Given the description of an element on the screen output the (x, y) to click on. 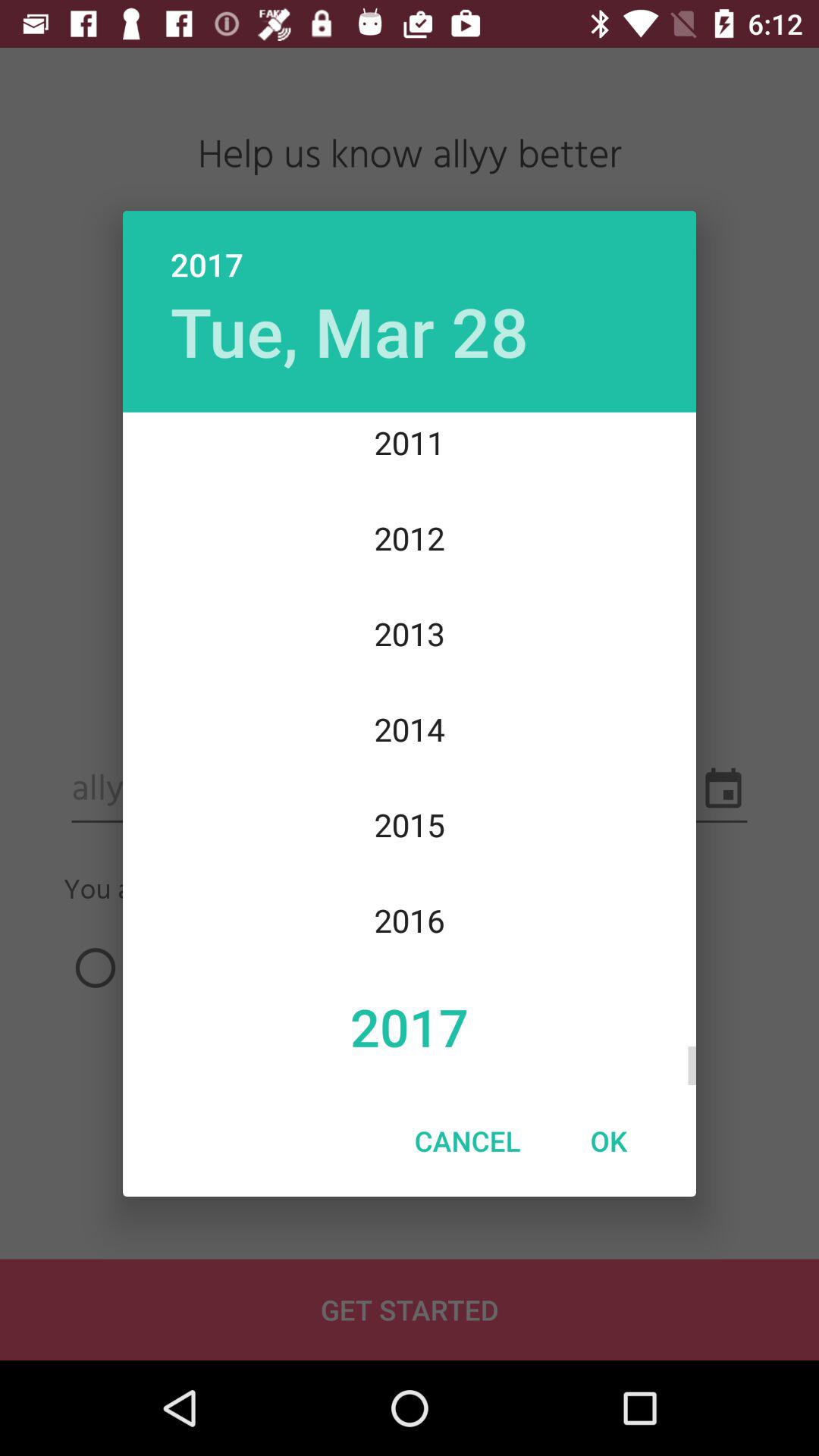
open item below the 2017 item (467, 1140)
